Given the description of an element on the screen output the (x, y) to click on. 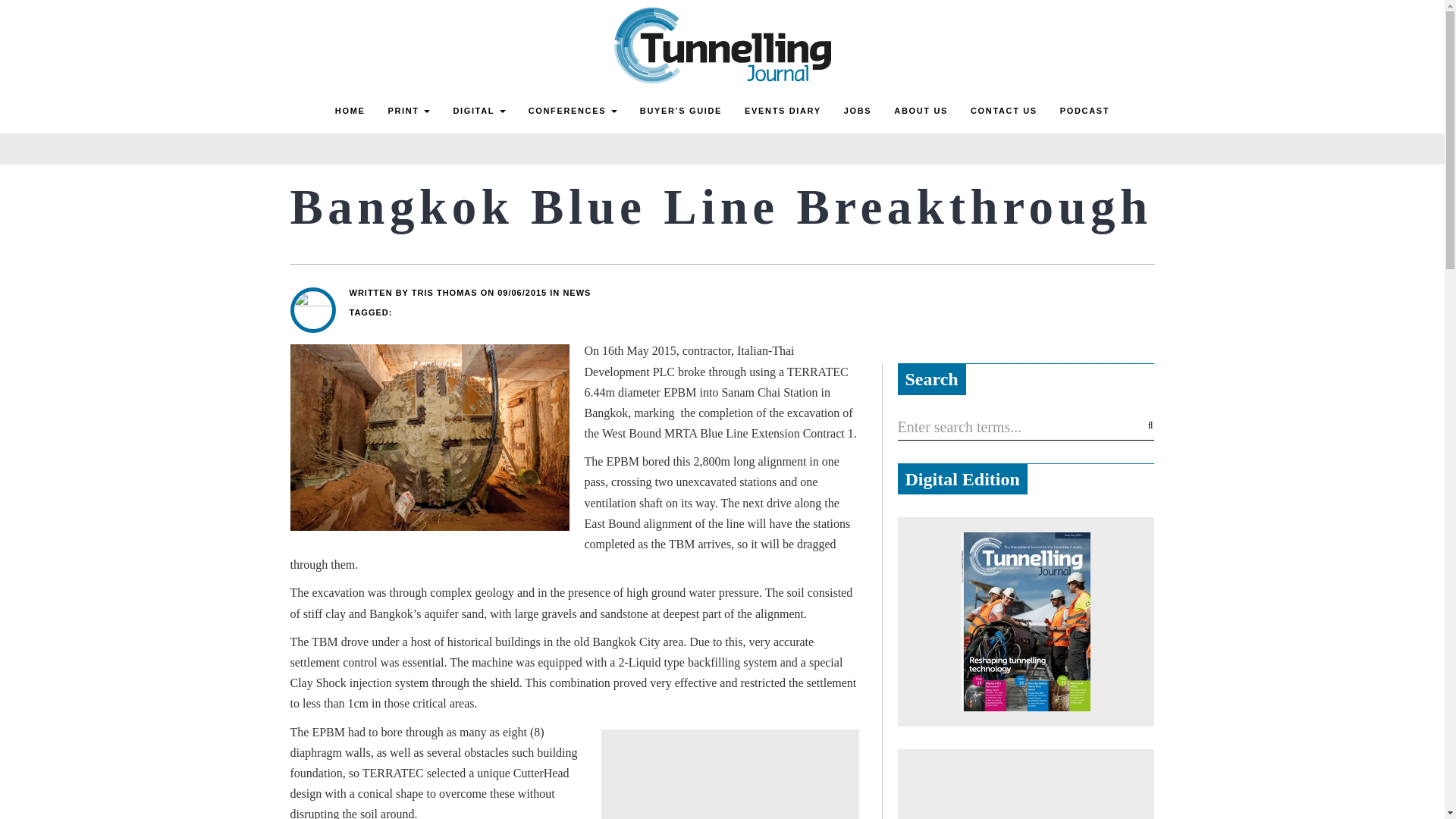
Digital (478, 110)
NEWS (576, 292)
Home (350, 110)
PRINT (408, 110)
CONTACT US (1003, 110)
Conferences (572, 110)
ABOUT US (920, 110)
Print (408, 110)
CONFERENCES (572, 110)
JOBS (857, 110)
